Given the description of an element on the screen output the (x, y) to click on. 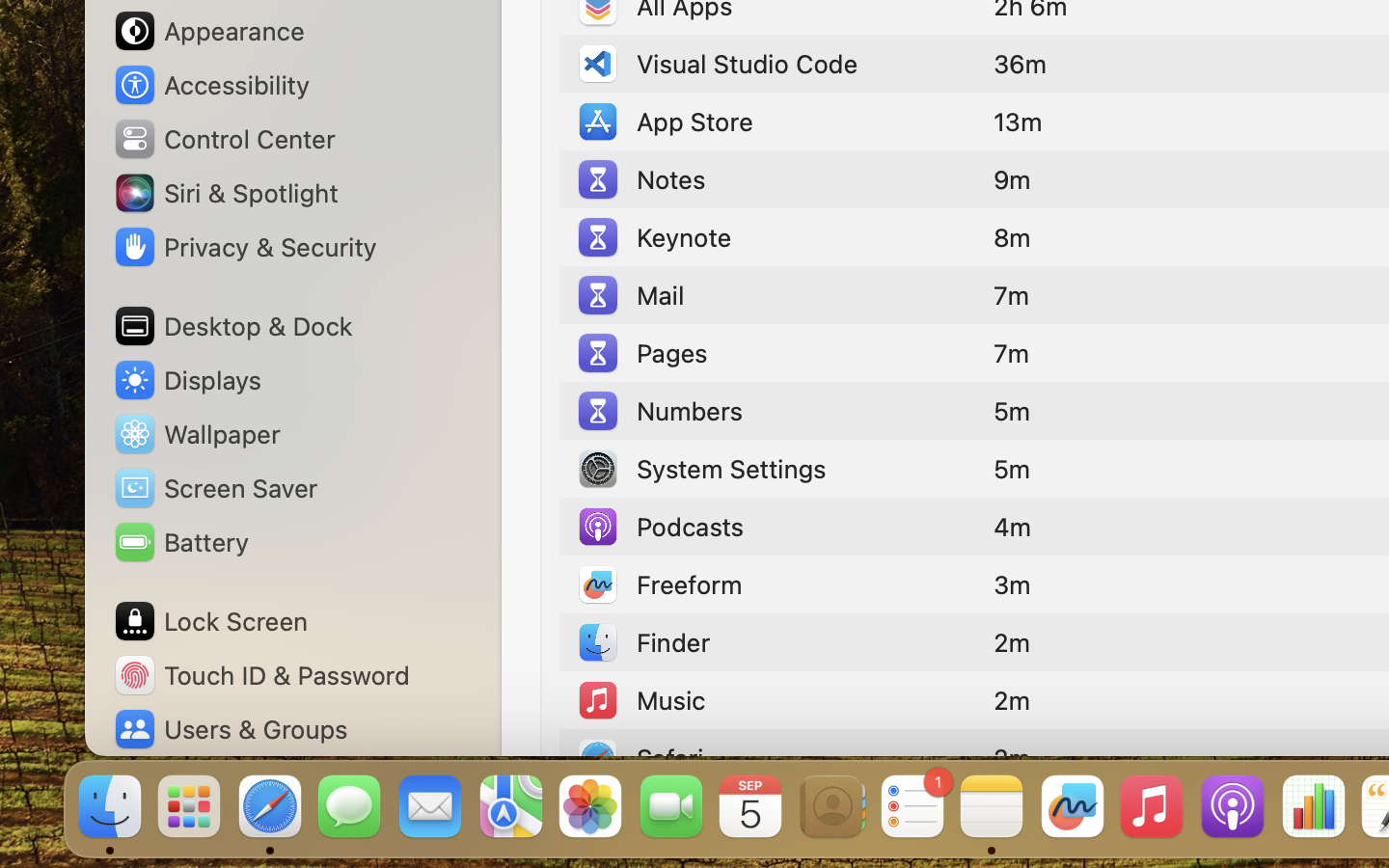
Appearance Element type: AXStaticText (207, 30)
App Store Element type: AXStaticText (663, 121)
8m Element type: AXStaticText (1011, 236)
7m Element type: AXStaticText (1011, 352)
Users & Groups Element type: AXStaticText (229, 728)
